Given the description of an element on the screen output the (x, y) to click on. 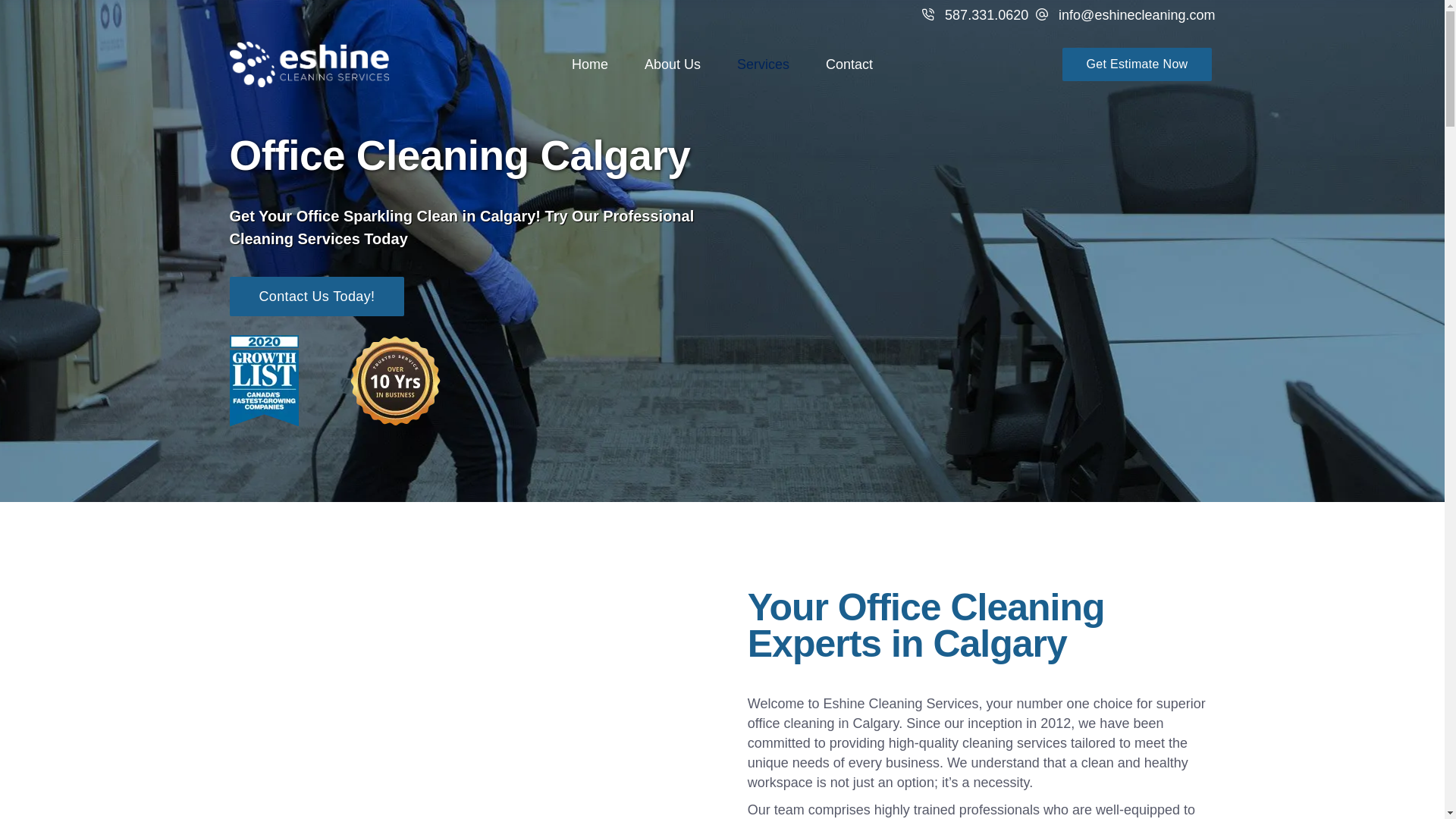
Contact (849, 64)
Home (589, 64)
Services (763, 64)
Get Estimate Now (1136, 64)
587.331.0620 (974, 15)
Contact Us Today! (316, 296)
About Us (672, 64)
